Given the description of an element on the screen output the (x, y) to click on. 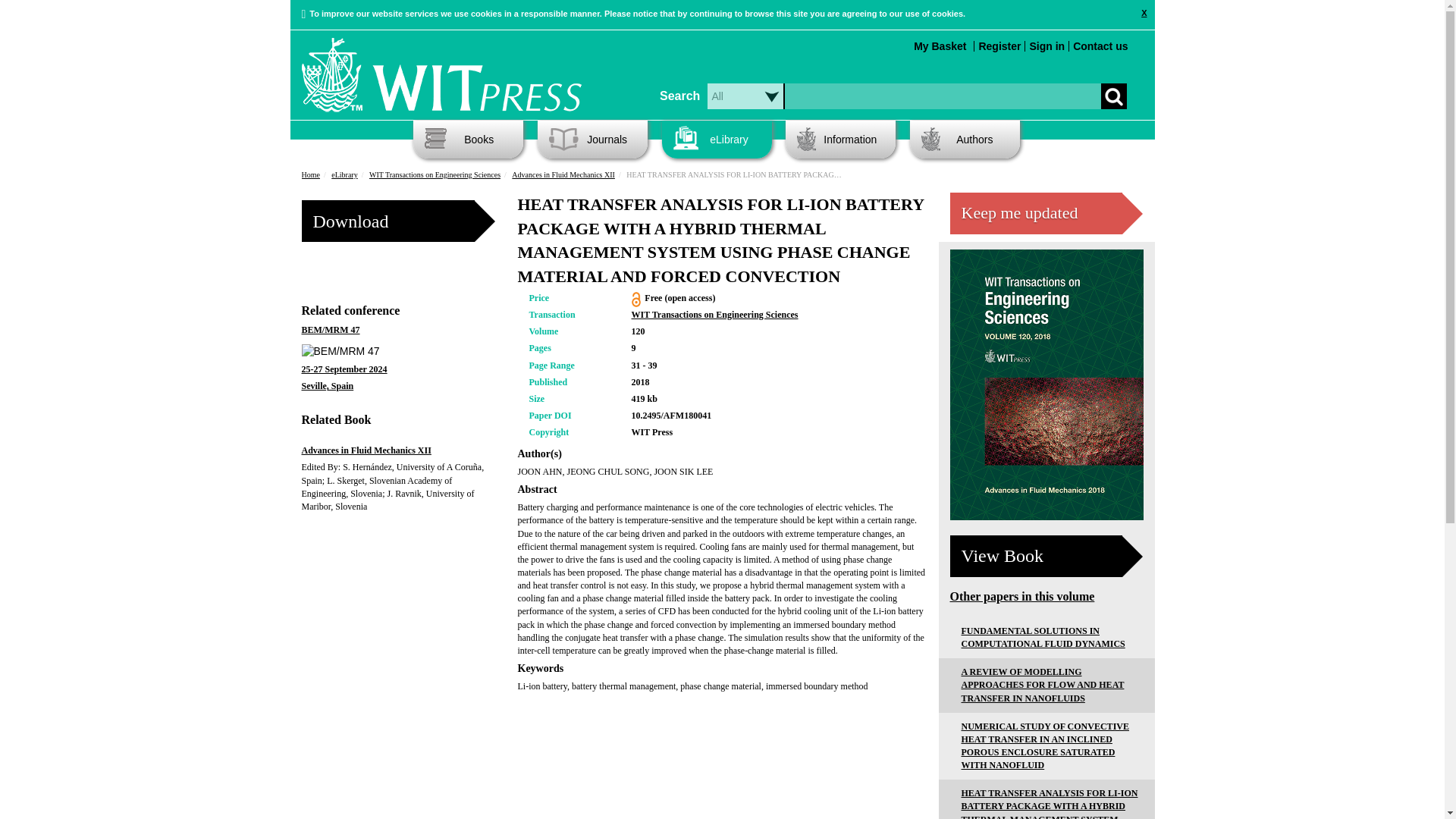
Books (467, 139)
My Basket (939, 46)
Contact us (1099, 46)
X (1144, 13)
Sign in (1046, 46)
Register (999, 46)
Advances in Fluid Mechanics XII (1045, 384)
